Given the description of an element on the screen output the (x, y) to click on. 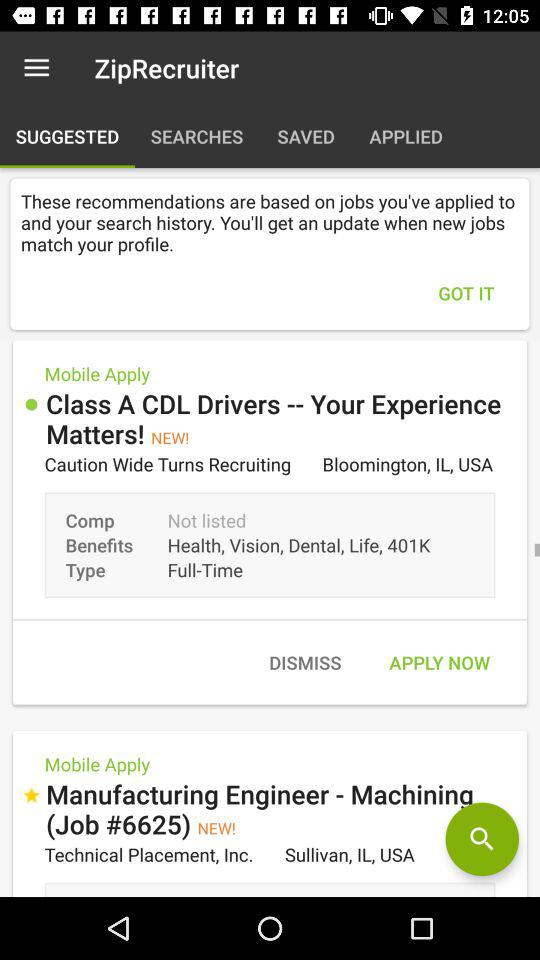
tap the item to the right of sullivan, il, usa icon (482, 839)
